Given the description of an element on the screen output the (x, y) to click on. 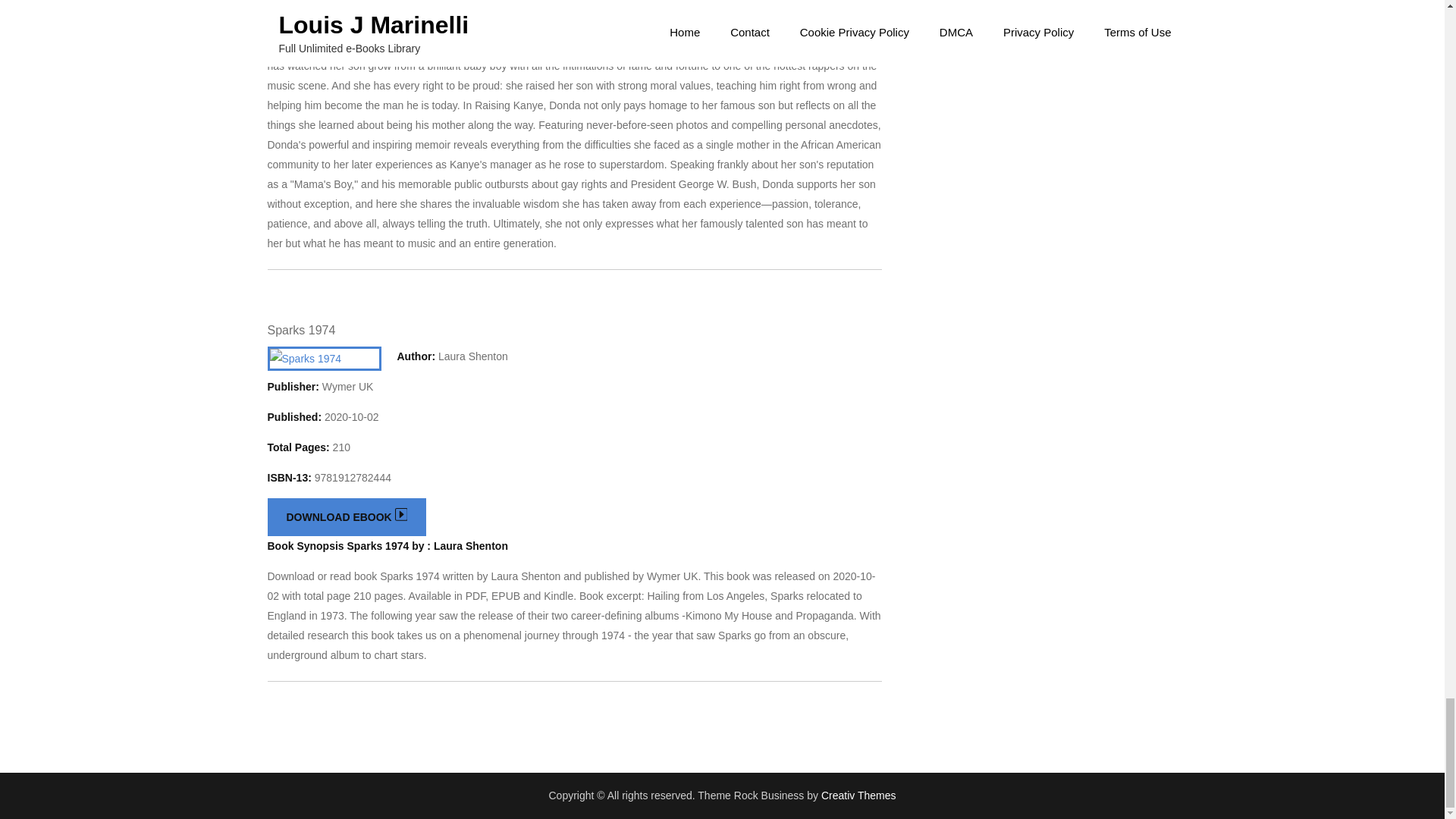
DOWNLOAD EBOOK (346, 516)
Sparks 1974 (300, 329)
